Given the description of an element on the screen output the (x, y) to click on. 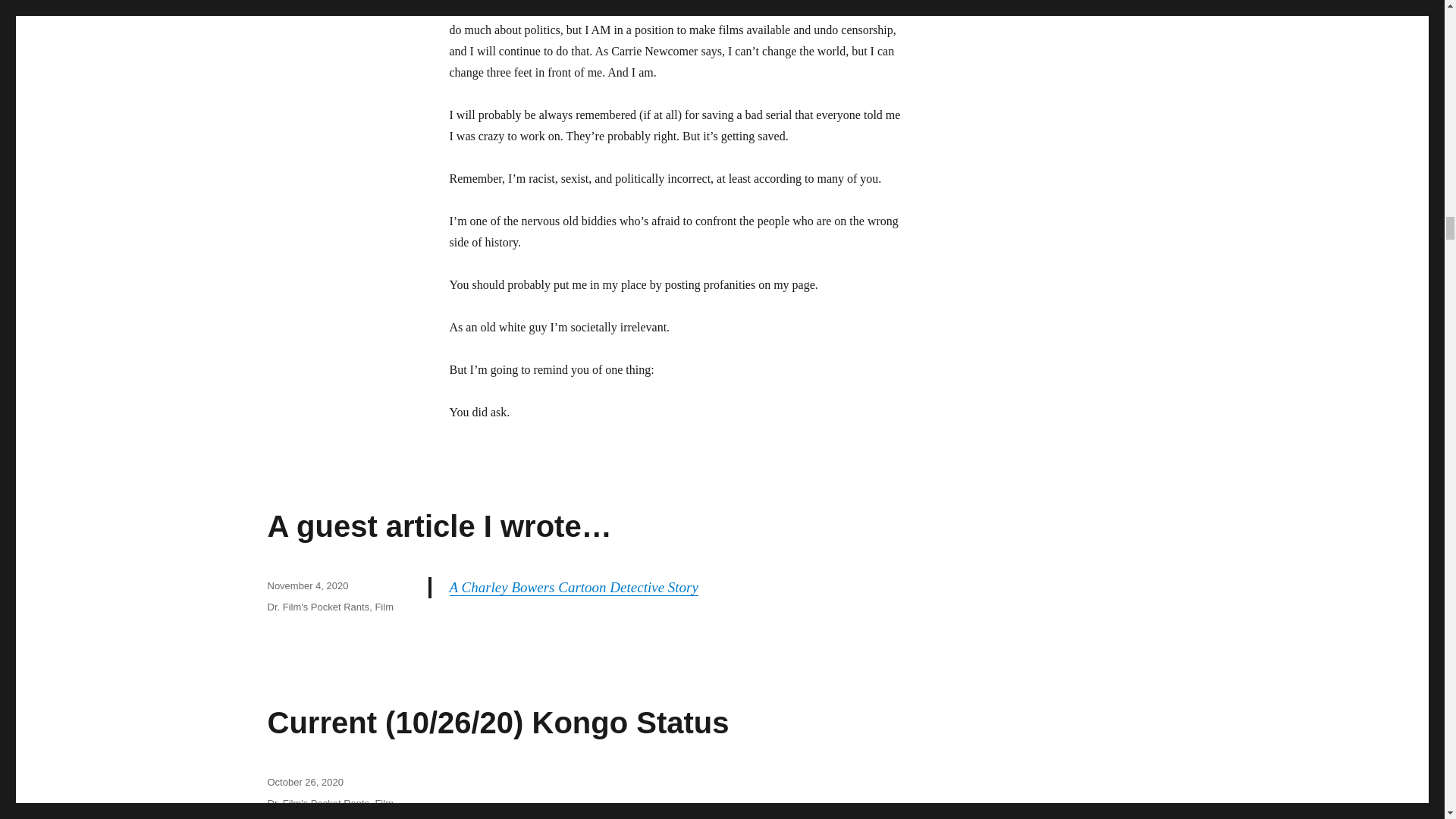
Film (383, 606)
October 26, 2020 (304, 781)
Dr. Film's Pocket Rants (317, 803)
November 4, 2020 (306, 585)
A Charley Bowers Cartoon Detective Story (573, 587)
Film (383, 803)
Dr. Film's Pocket Rants (317, 606)
